Given the description of an element on the screen output the (x, y) to click on. 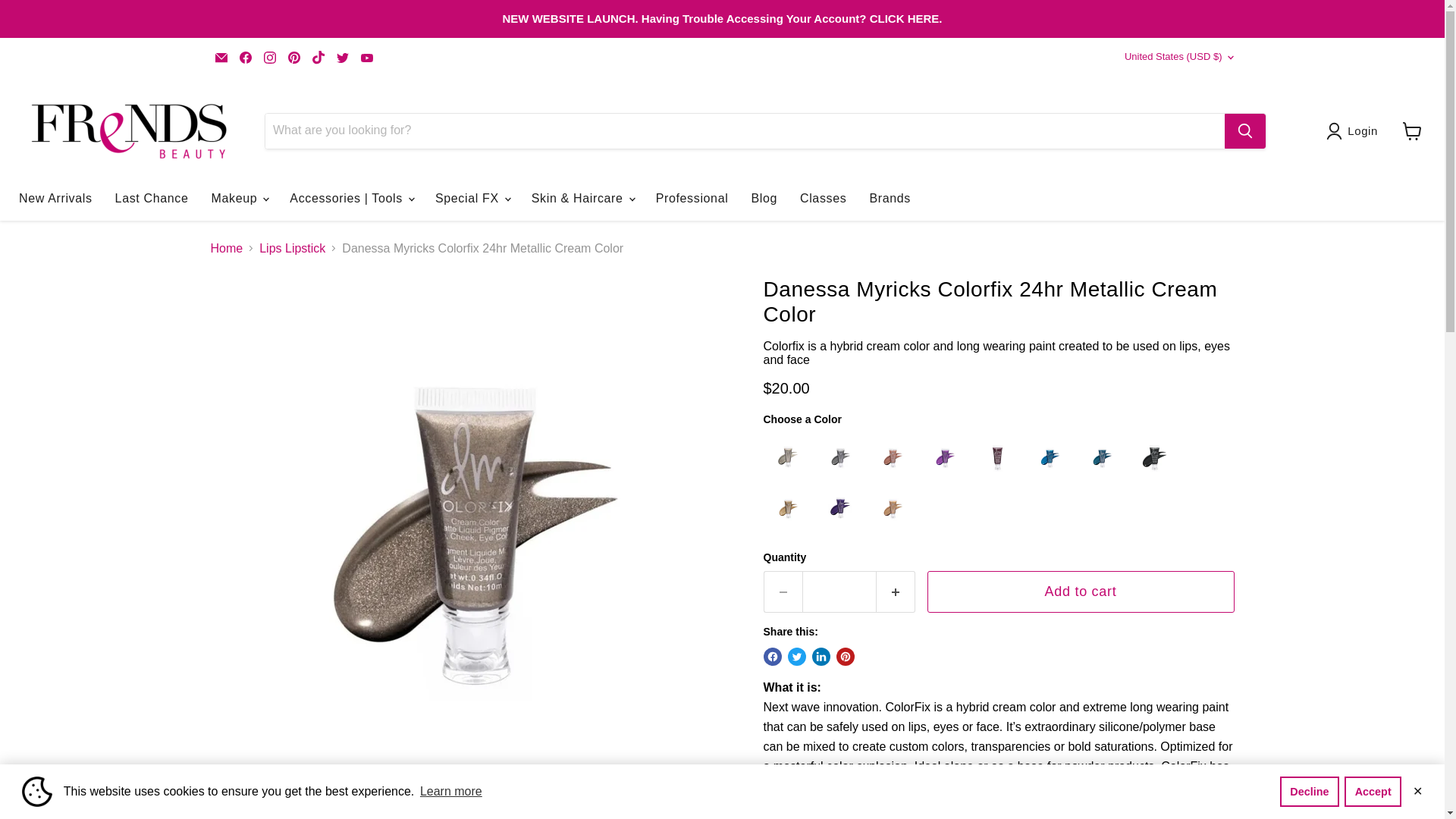
Find us on TikTok (318, 56)
Learn more (450, 791)
Find us on Pinterest (293, 56)
Email Frends Beauty (221, 56)
Pinterest (293, 56)
Find us on Instagram (270, 56)
Twitter (342, 56)
Decline (1309, 791)
Facebook (245, 56)
TikTok (318, 56)
Find us on Facebook (245, 56)
Email (221, 56)
Accept (1371, 791)
Find us on YouTube (366, 56)
Instagram (270, 56)
